Given the description of an element on the screen output the (x, y) to click on. 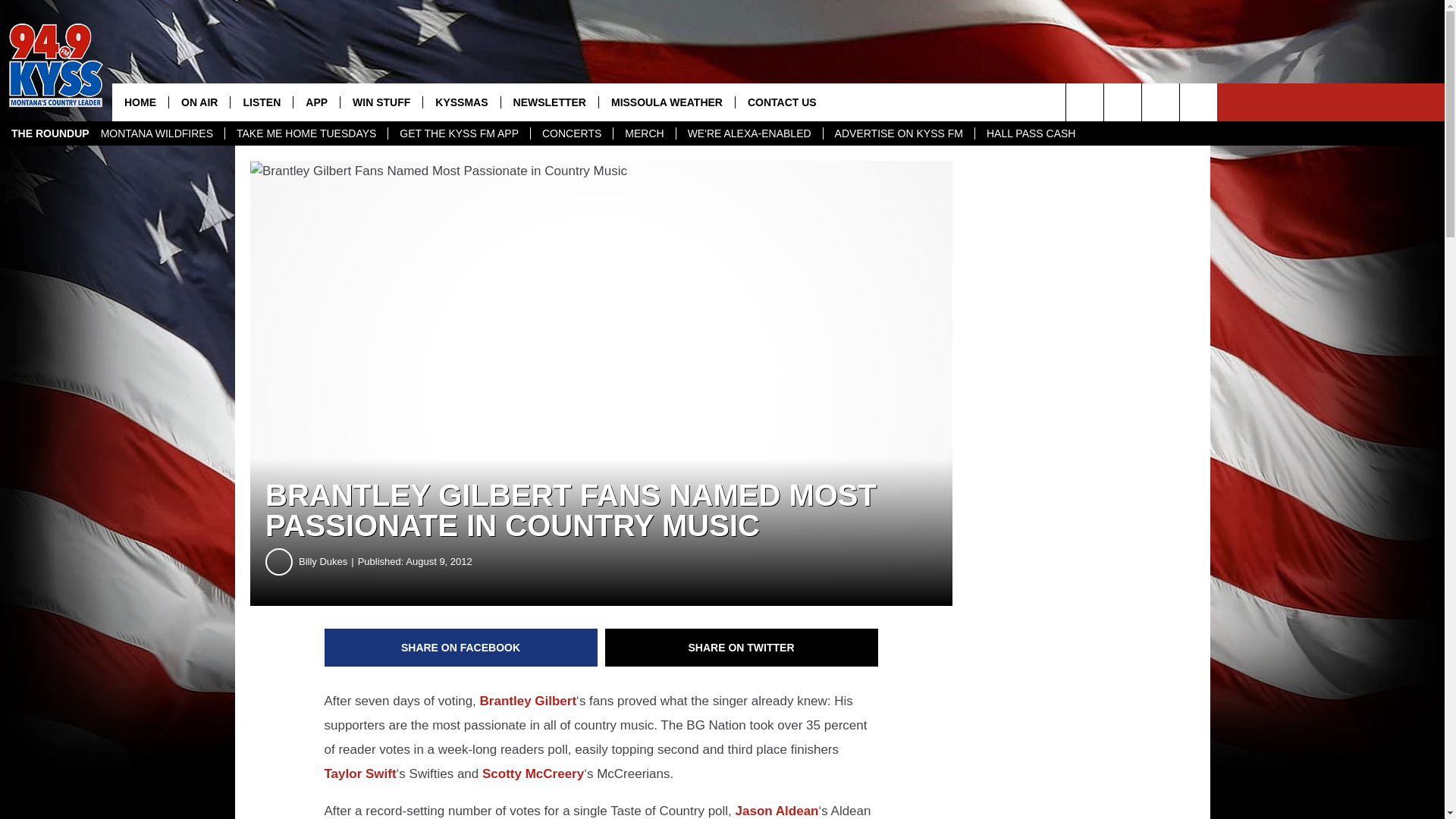
WE'RE ALEXA-ENABLED (748, 133)
GET THE KYSS FM APP (458, 133)
MERCH (643, 133)
MONTANA WILDFIRES (156, 133)
HALL PASS CASH (1030, 133)
KYSSMAS (460, 102)
ADVERTISE ON KYSS FM (898, 133)
MISSOULA WEATHER (666, 102)
LISTEN (261, 102)
CONCERTS (570, 133)
